Given the description of an element on the screen output the (x, y) to click on. 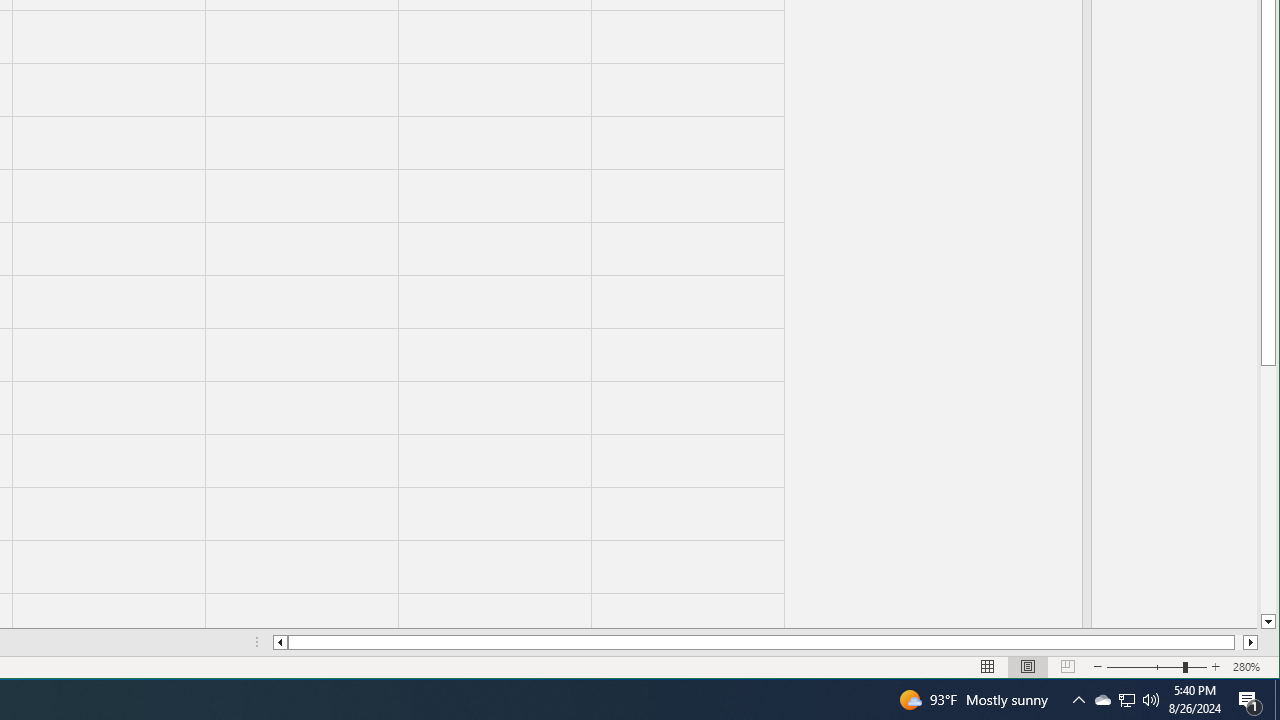
Zoom Out (1144, 667)
Normal (987, 667)
Column left (279, 642)
Line down (1268, 622)
Page Break Preview (1068, 667)
Column right (1250, 642)
Page down (1102, 699)
Page Layout (1268, 489)
Notification Chevron (1028, 667)
Zoom (1078, 699)
Page right (1157, 667)
Show desktop (1238, 642)
Q2790: 100% (1277, 699)
